Given the description of an element on the screen output the (x, y) to click on. 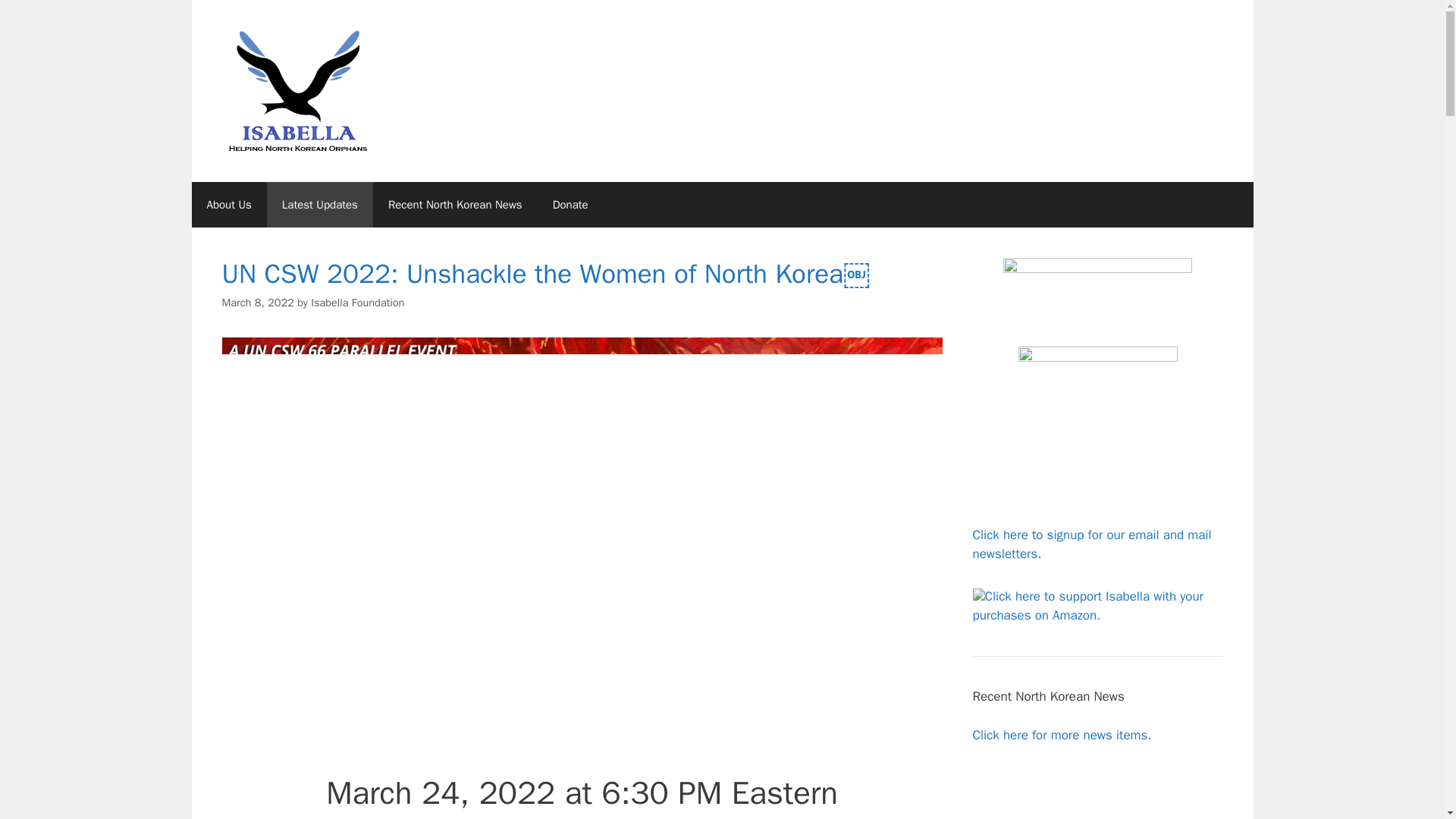
Recent North Korean News (454, 204)
Isabella Foundation (357, 302)
View all posts by Isabella Foundation (357, 302)
Donate (570, 204)
About Us (228, 204)
Latest Updates (319, 204)
